Given the description of an element on the screen output the (x, y) to click on. 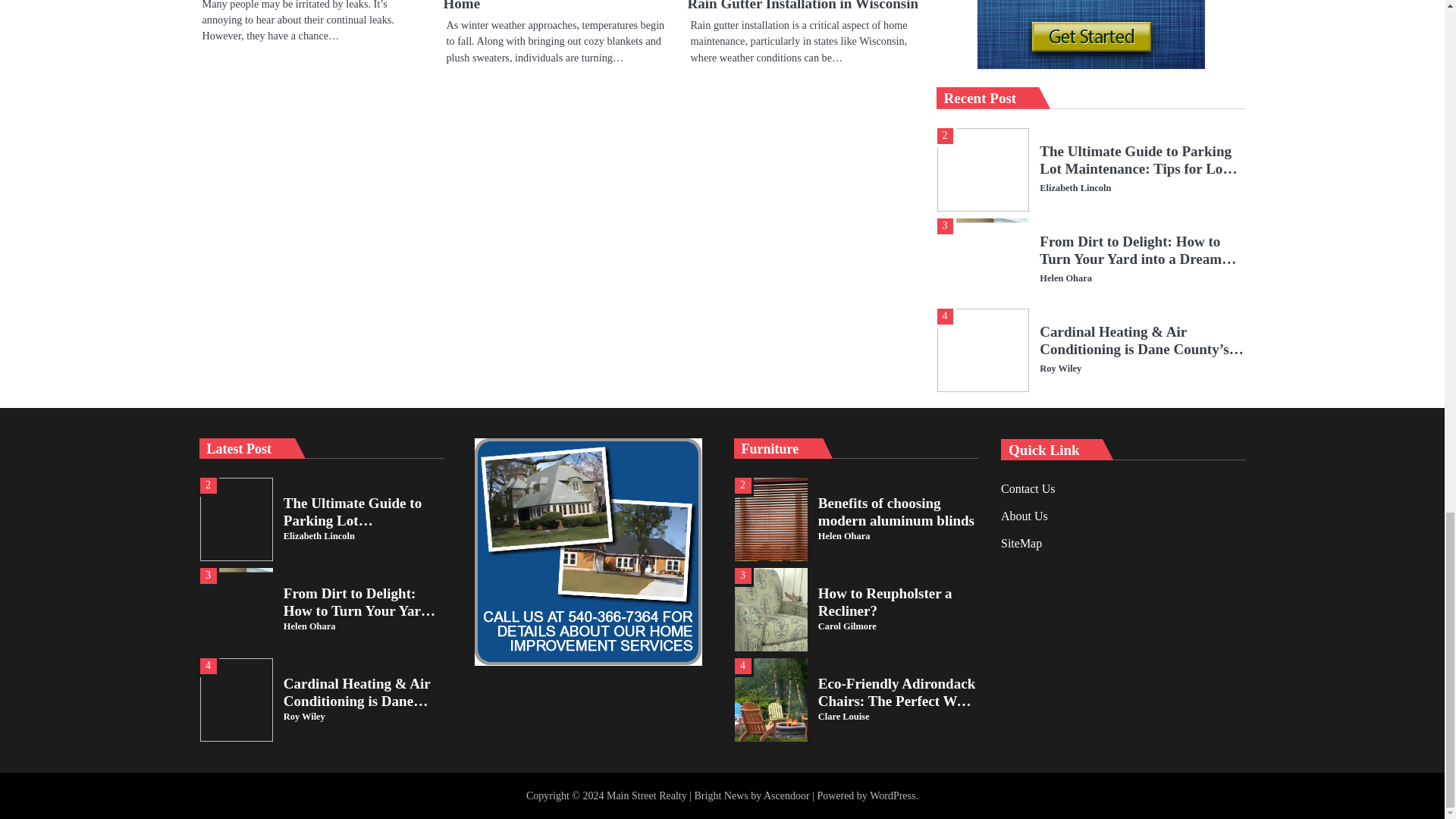
Different Methods of Heating Your Home (550, 5)
